Given the description of an element on the screen output the (x, y) to click on. 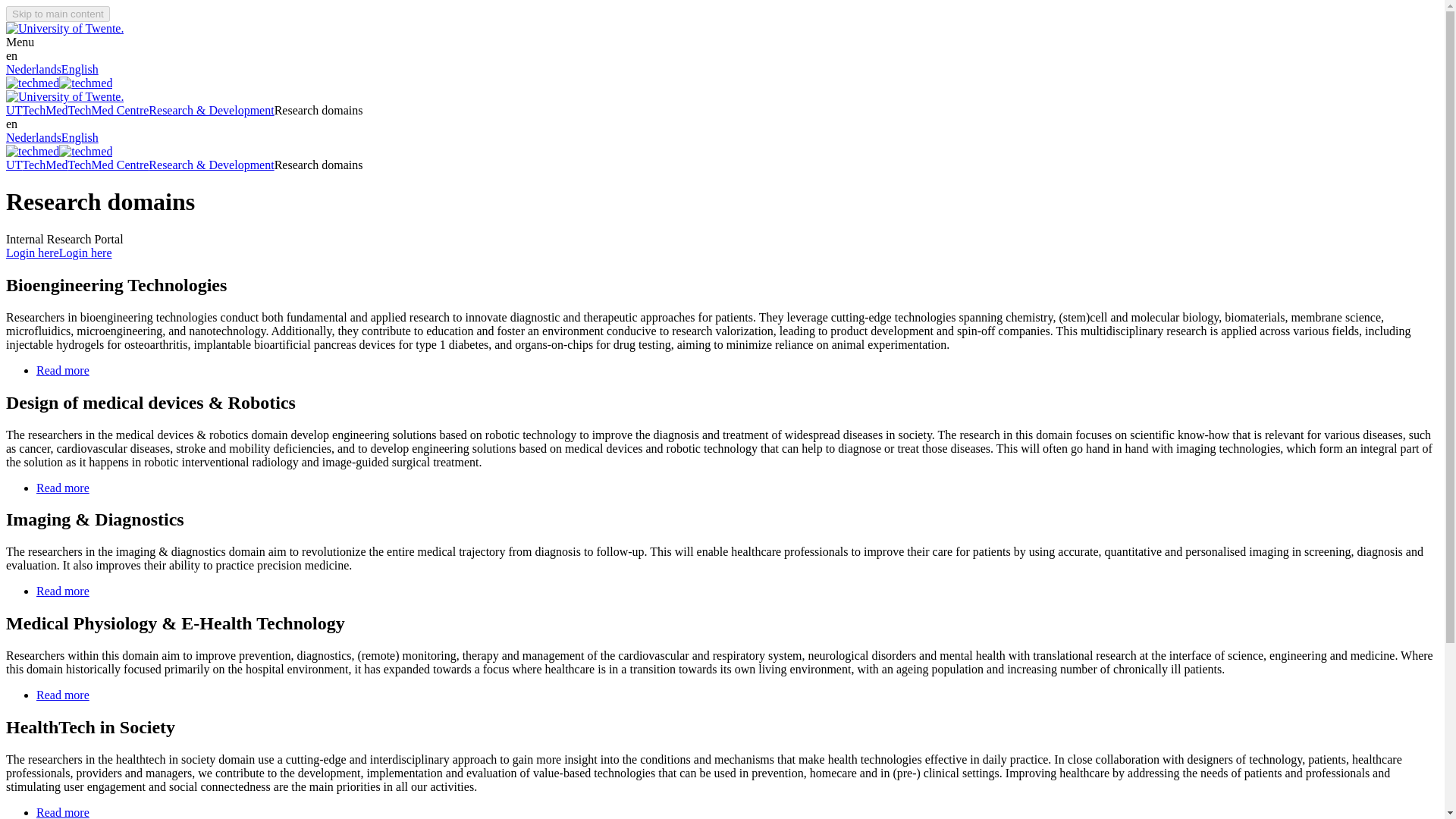
Read more (62, 812)
TechMed (43, 164)
Read more (62, 486)
TechMed Centre (108, 164)
Skip to main content (57, 13)
UT (13, 164)
Read more (62, 590)
Read more (62, 369)
Login hereLogin here (58, 252)
Nederlands (33, 69)
Nederlands (33, 137)
English (80, 137)
TechMed (43, 110)
English (80, 69)
TechMed Centre (108, 110)
